Given the description of an element on the screen output the (x, y) to click on. 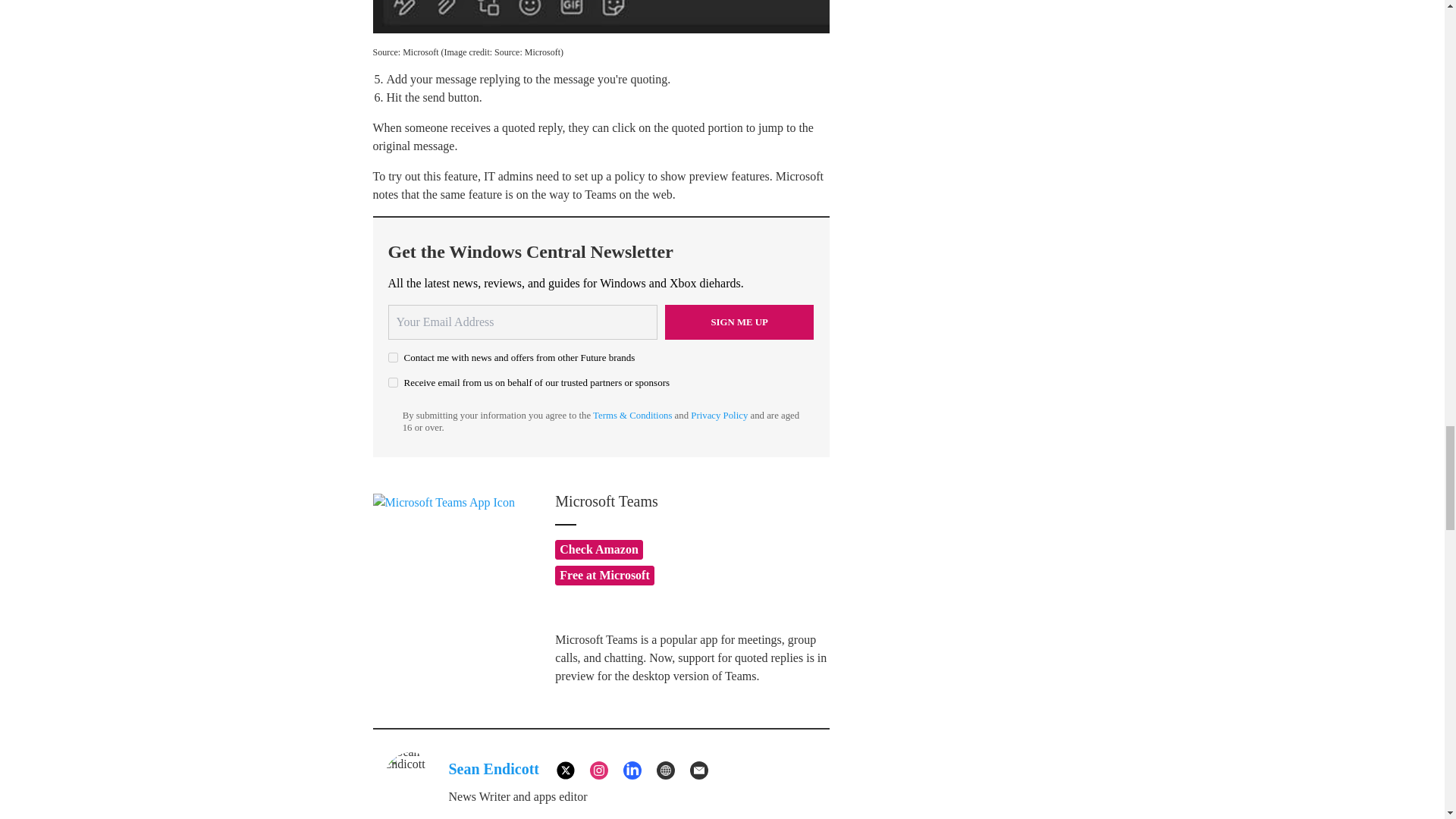
Sean Endicott (493, 768)
on (392, 382)
Privacy Policy (719, 415)
Sign me up (739, 321)
Sign me up (739, 321)
on (392, 357)
Check Amazon (599, 549)
Free at Microsoft (604, 575)
